Given the description of an element on the screen output the (x, y) to click on. 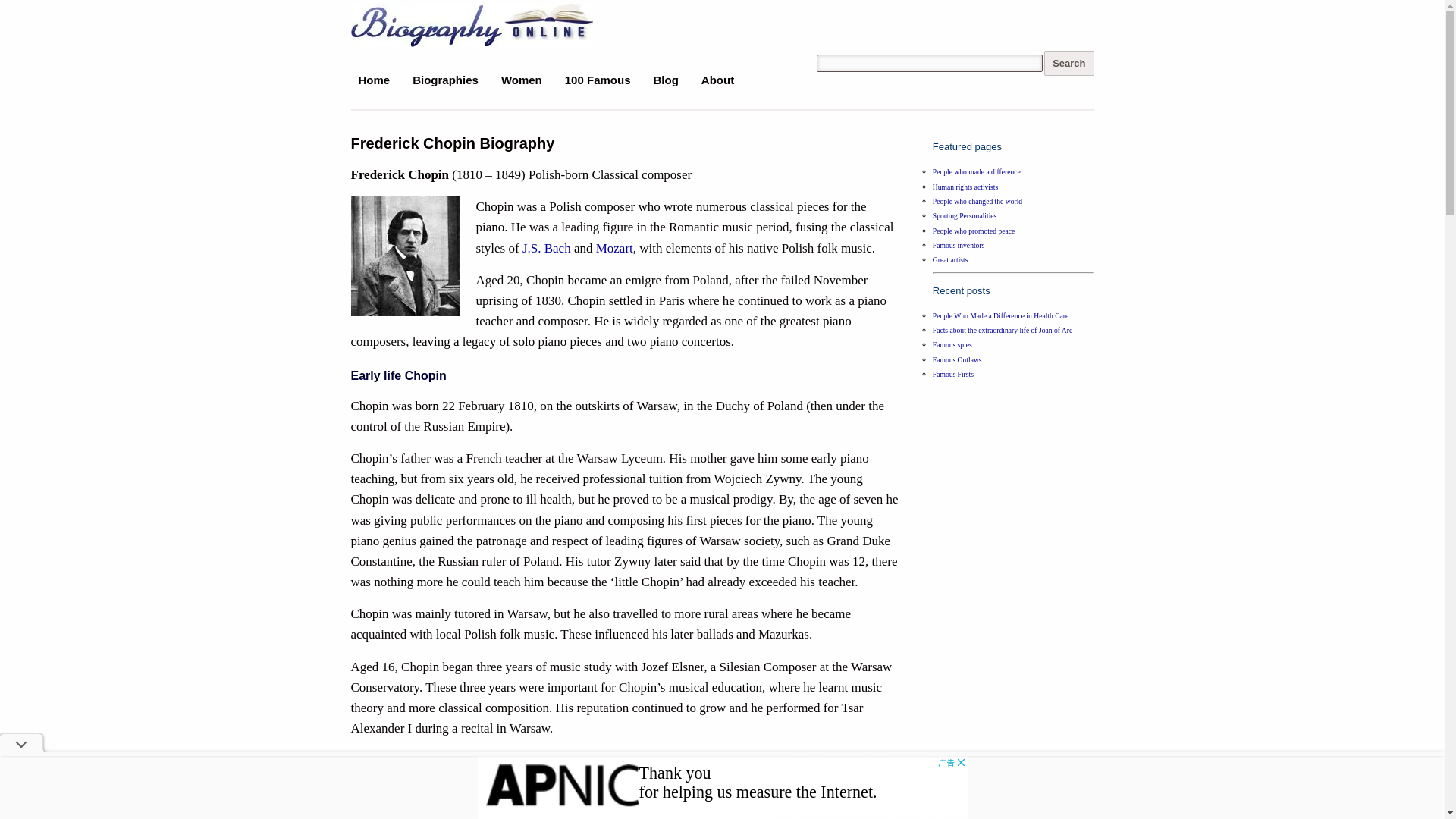
Search (1068, 63)
Home (373, 79)
100 Famous (598, 79)
Mozart (614, 247)
Biography Online (426, 23)
Blog (665, 79)
Women (521, 79)
Advertisement (722, 787)
Search (1068, 63)
About (717, 79)
J.S. Bach (546, 247)
Biographies (445, 79)
